Given the description of an element on the screen output the (x, y) to click on. 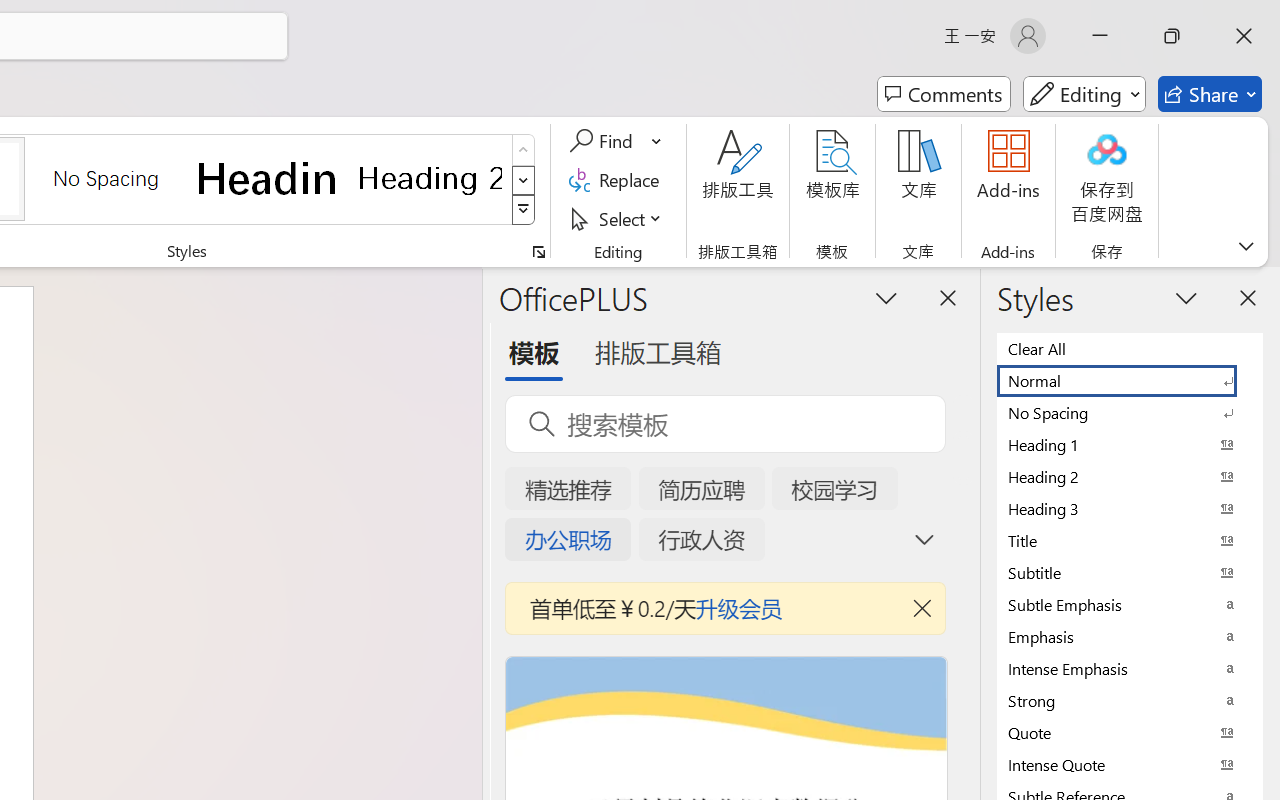
Styles... (538, 252)
Ribbon Display Options (1246, 245)
